Given the description of an element on the screen output the (x, y) to click on. 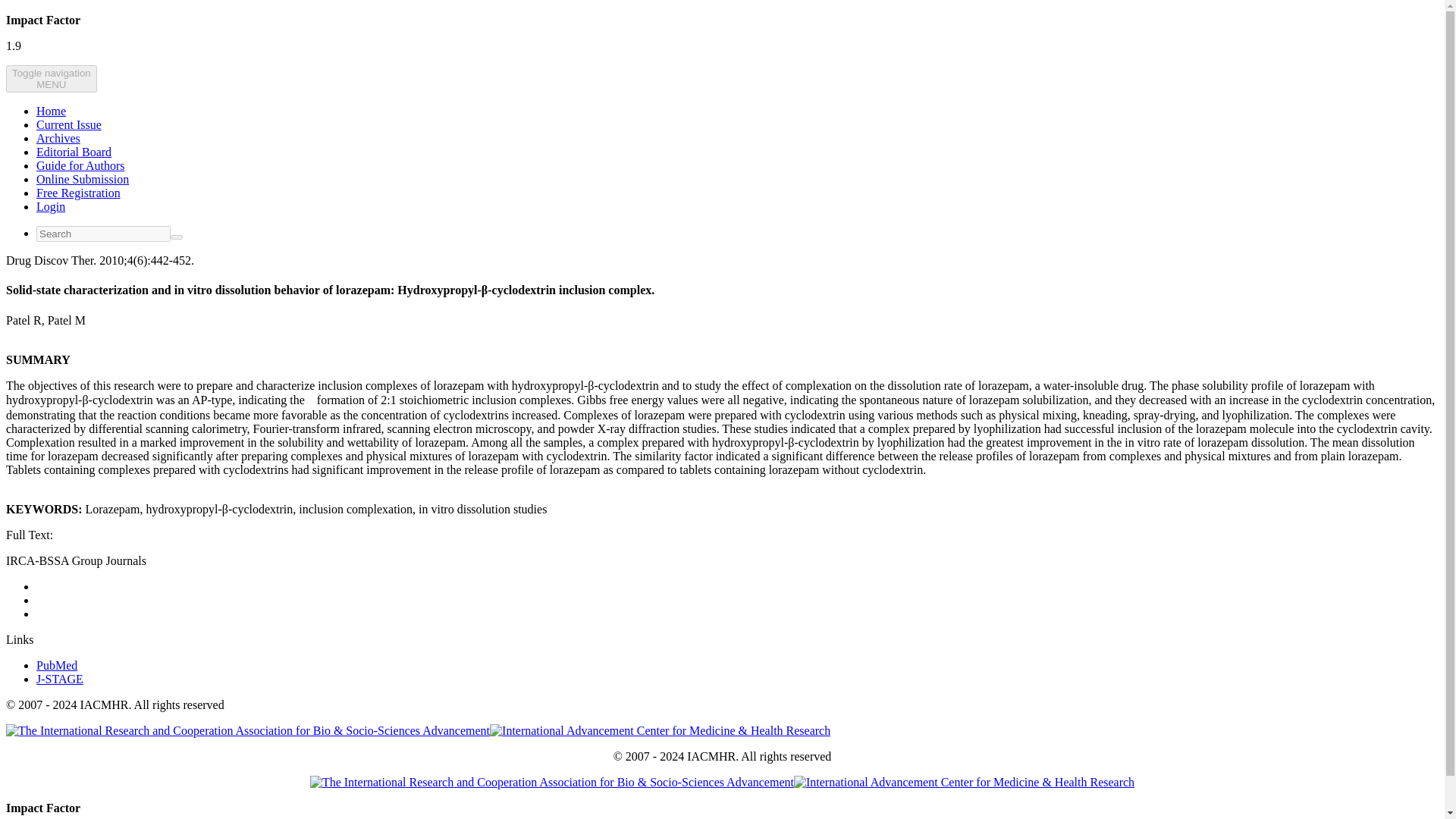
J-STAGE (59, 678)
Online Submission (82, 178)
Home (50, 110)
PubMed (56, 665)
Archives (58, 137)
Free Registration (78, 192)
Guide for Authors (79, 164)
Current Issue (51, 78)
Editorial Board (68, 124)
Login (74, 151)
